Given the description of an element on the screen output the (x, y) to click on. 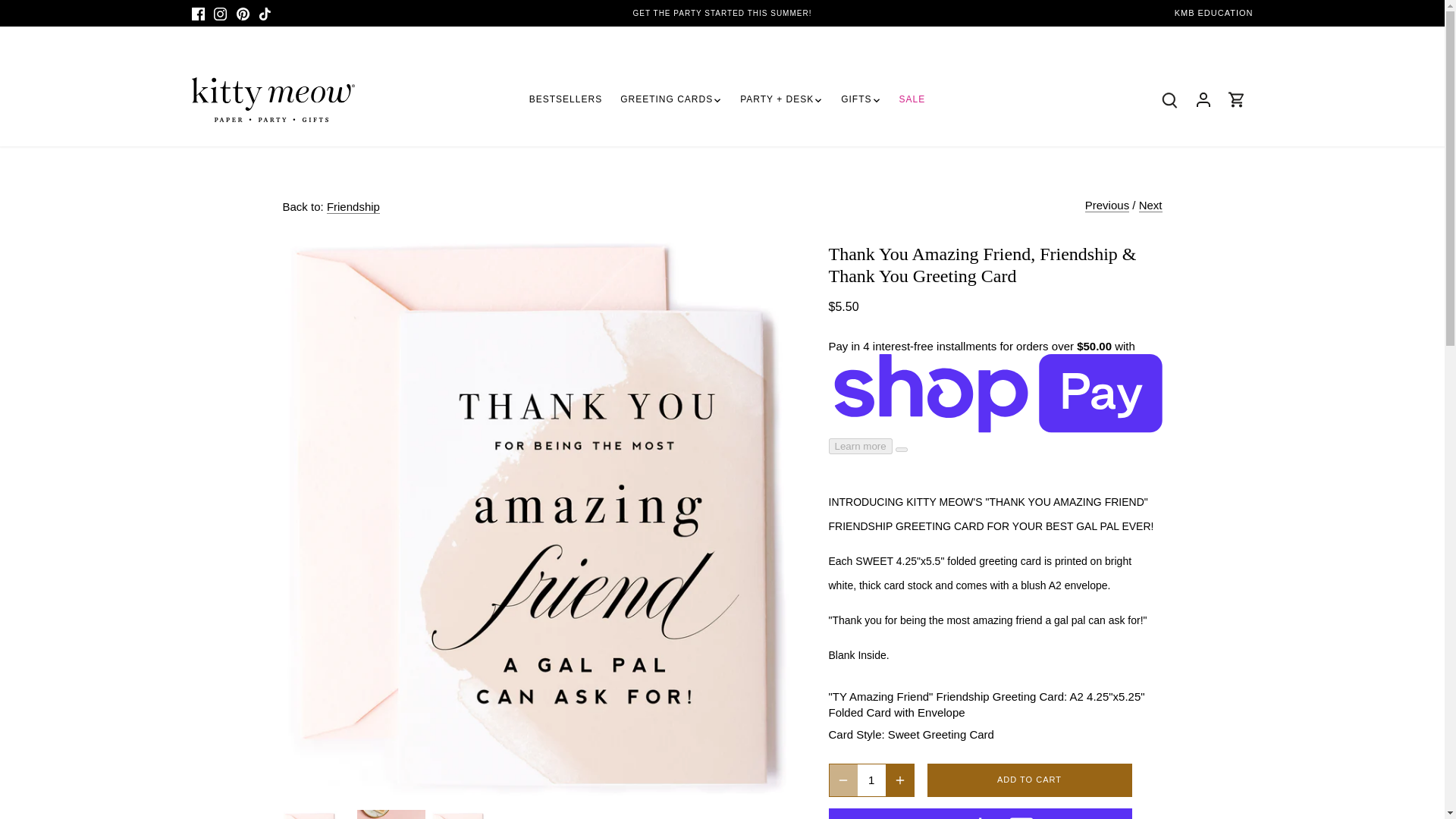
KMB EDUCATION (1213, 12)
GREETING CARDS (666, 100)
Instagram (220, 13)
Facebook (196, 13)
Pinterest (241, 13)
GET THE PARTY STARTED THIS SUMMER! (722, 13)
Friendship (353, 206)
BESTSELLERS (570, 100)
